Given the description of an element on the screen output the (x, y) to click on. 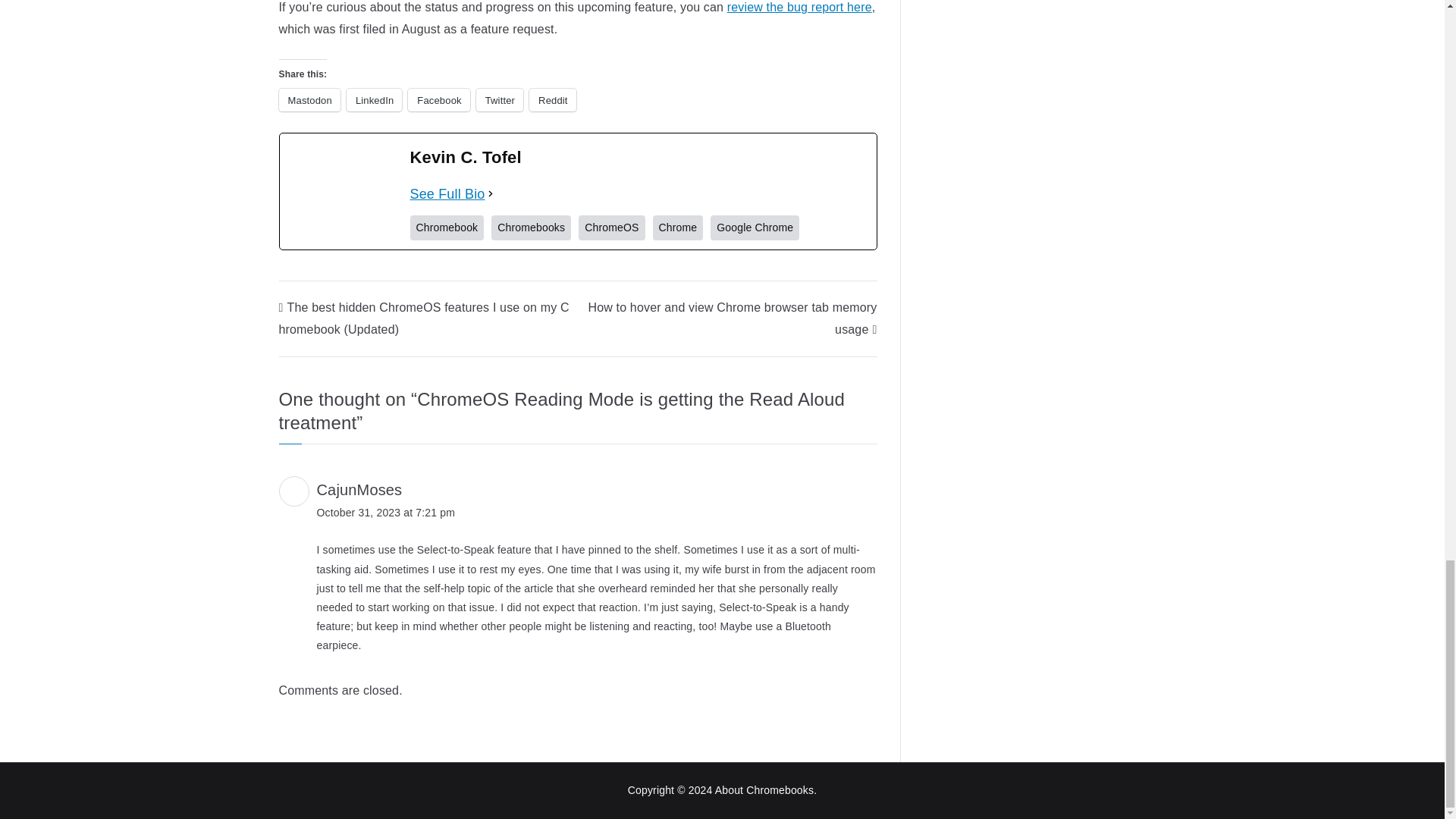
Click to share on Mastodon (309, 99)
Mastodon (309, 99)
review the bug report here (799, 6)
About Chromebooks (763, 789)
Click to share on Reddit (552, 99)
Facebook (437, 99)
LinkedIn (373, 99)
Click to share on LinkedIn (373, 99)
Reddit (552, 99)
Click to share on Twitter (499, 99)
Click to share on Facebook (437, 99)
Twitter (499, 99)
